Given the description of an element on the screen output the (x, y) to click on. 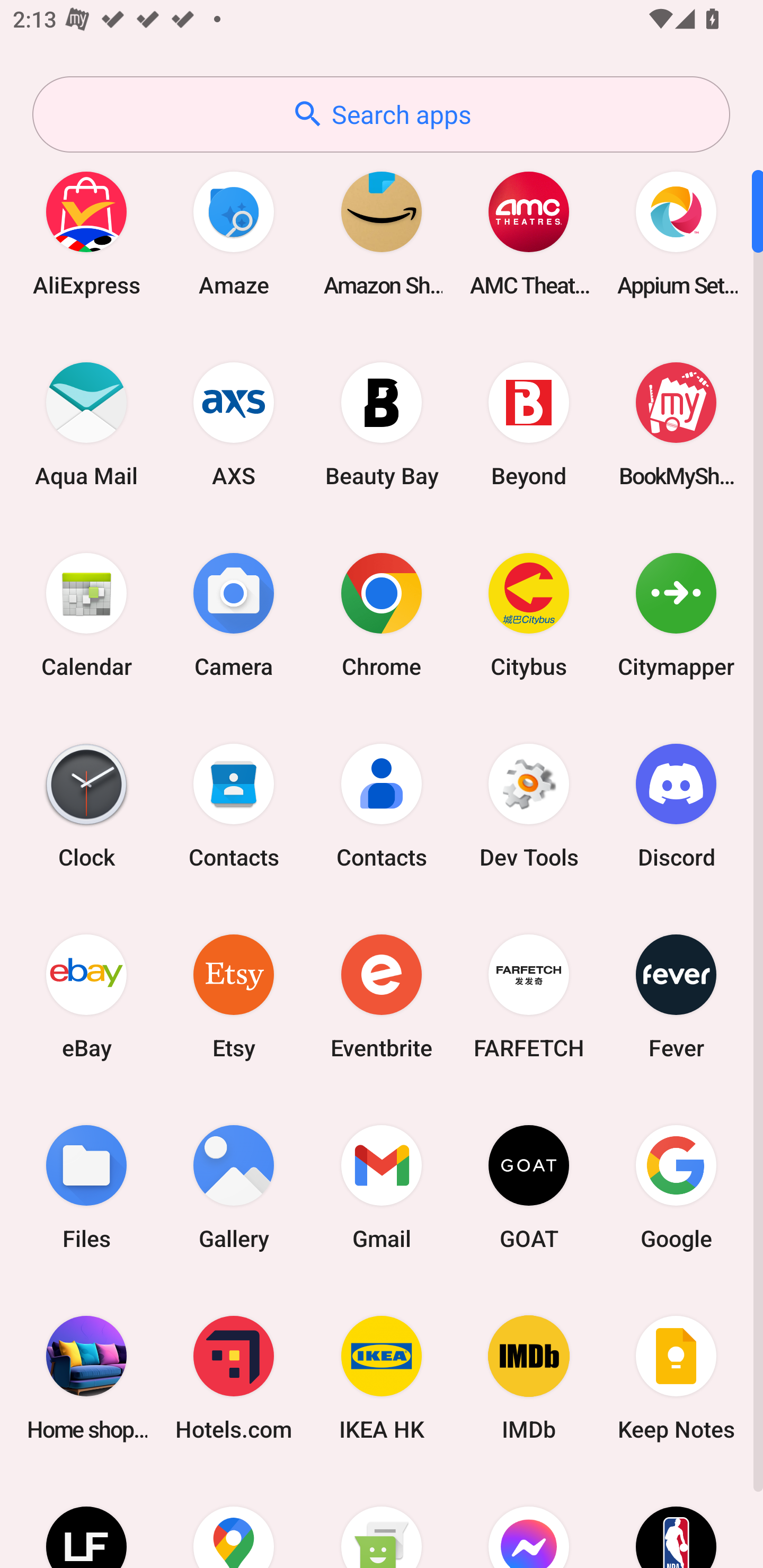
Citymapper (676, 614)
